Given the description of an element on the screen output the (x, y) to click on. 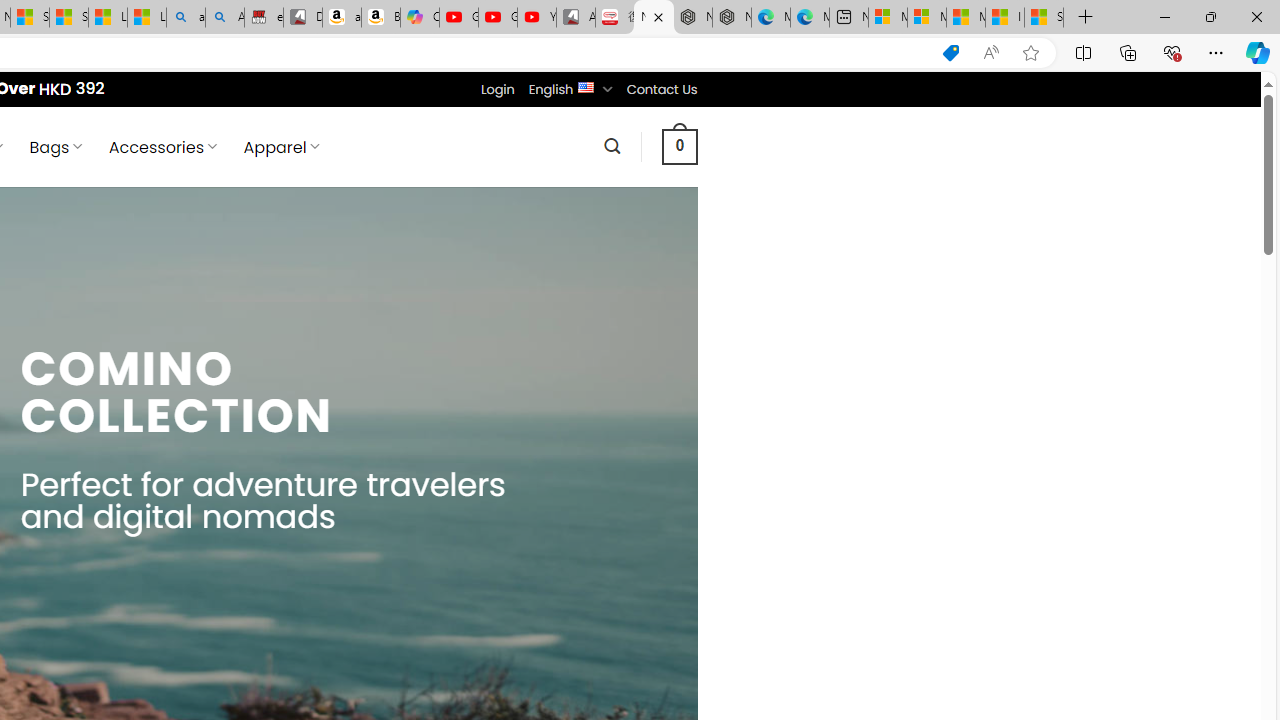
Contact Us (661, 89)
Contact Us (661, 89)
